Given the description of an element on the screen output the (x, y) to click on. 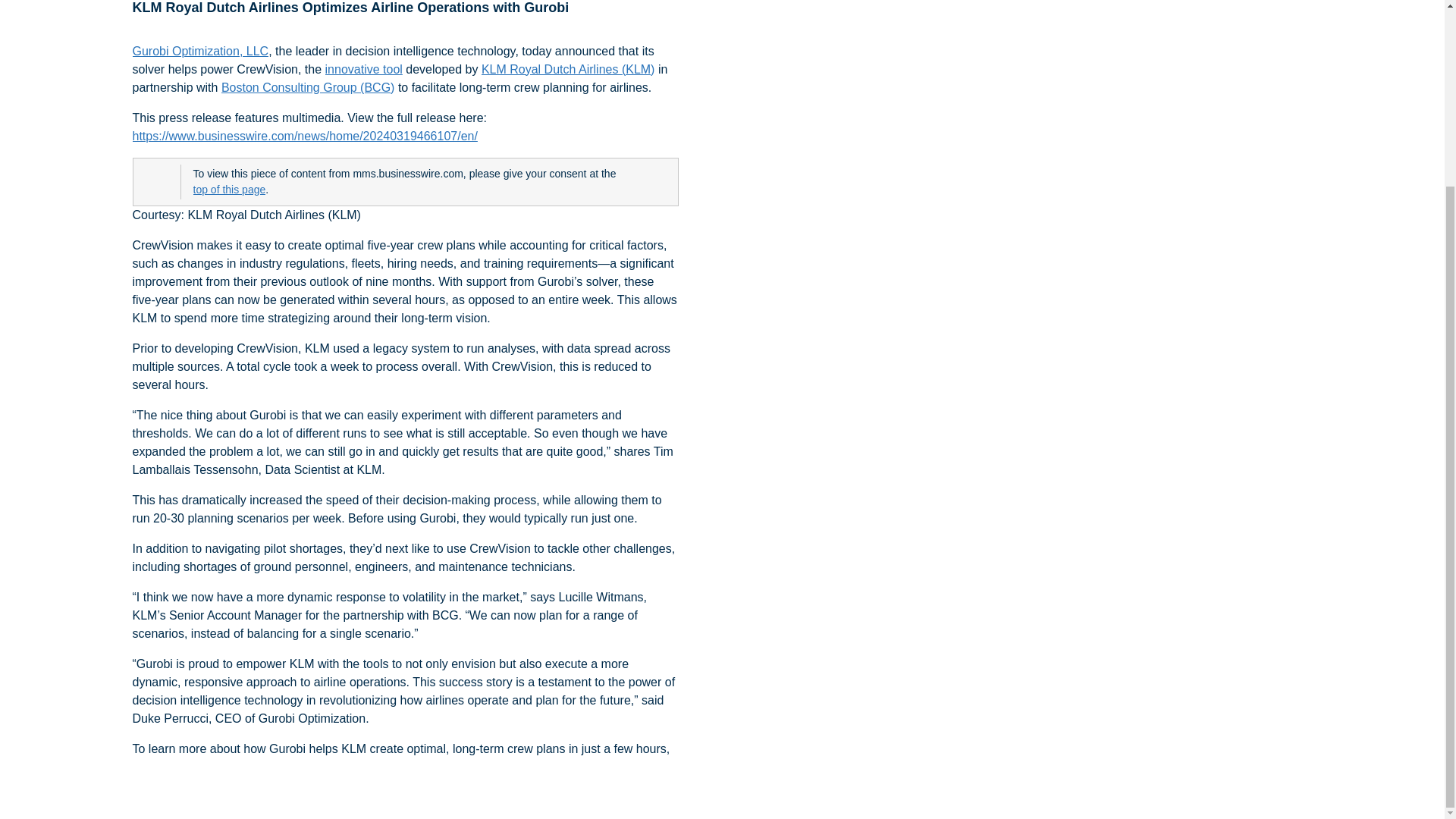
innovative tool (363, 69)
Gurobi Optimization, LLC (199, 51)
top of this page (228, 189)
